Given the description of an element on the screen output the (x, y) to click on. 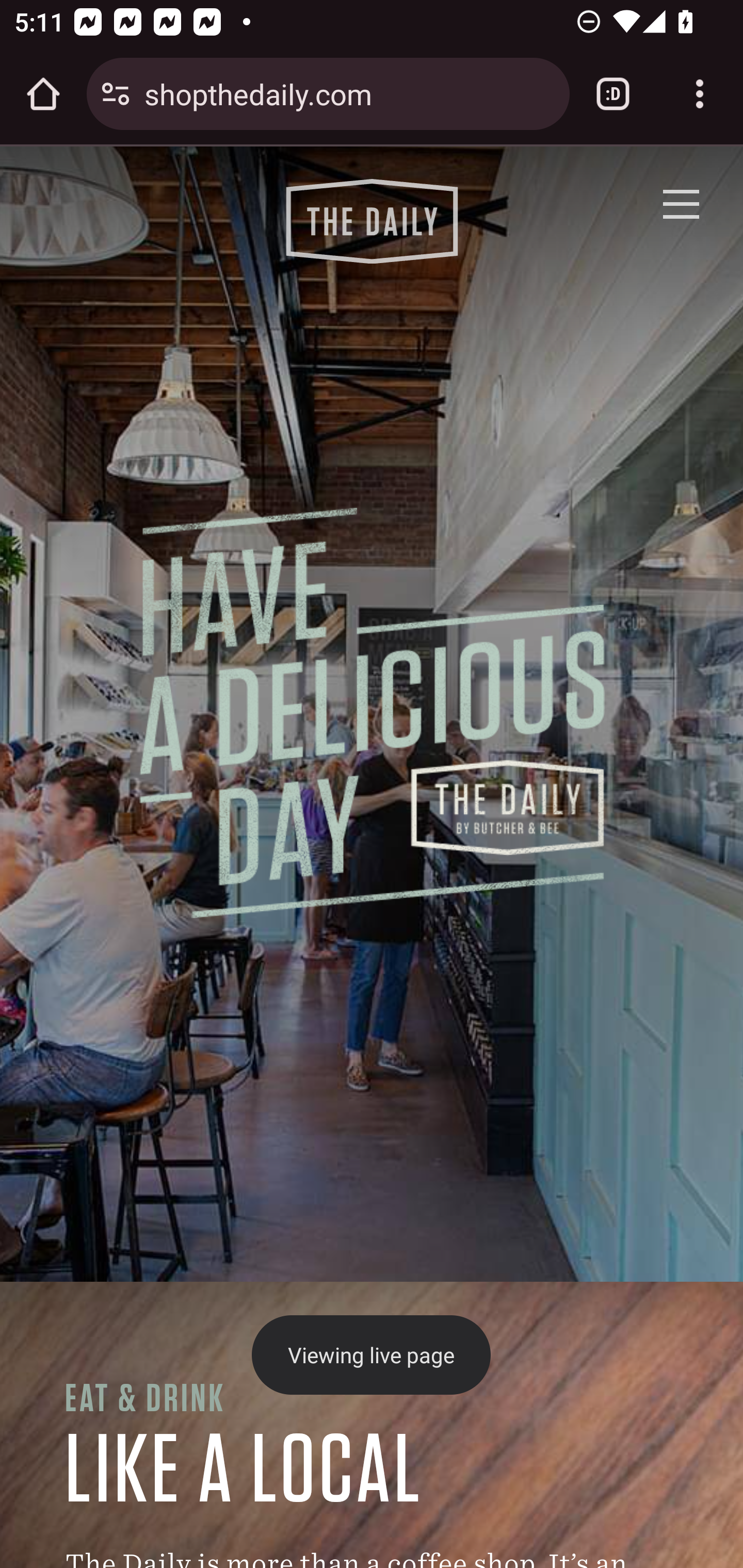
Open the home page (43, 93)
Connection is secure (115, 93)
Switch or close tabs (612, 93)
Customize and control Google Chrome (699, 93)
shopthedaily.com (349, 92)
# (680, 203)
www.shopthedaily The Daily (371, 220)
